Given the description of an element on the screen output the (x, y) to click on. 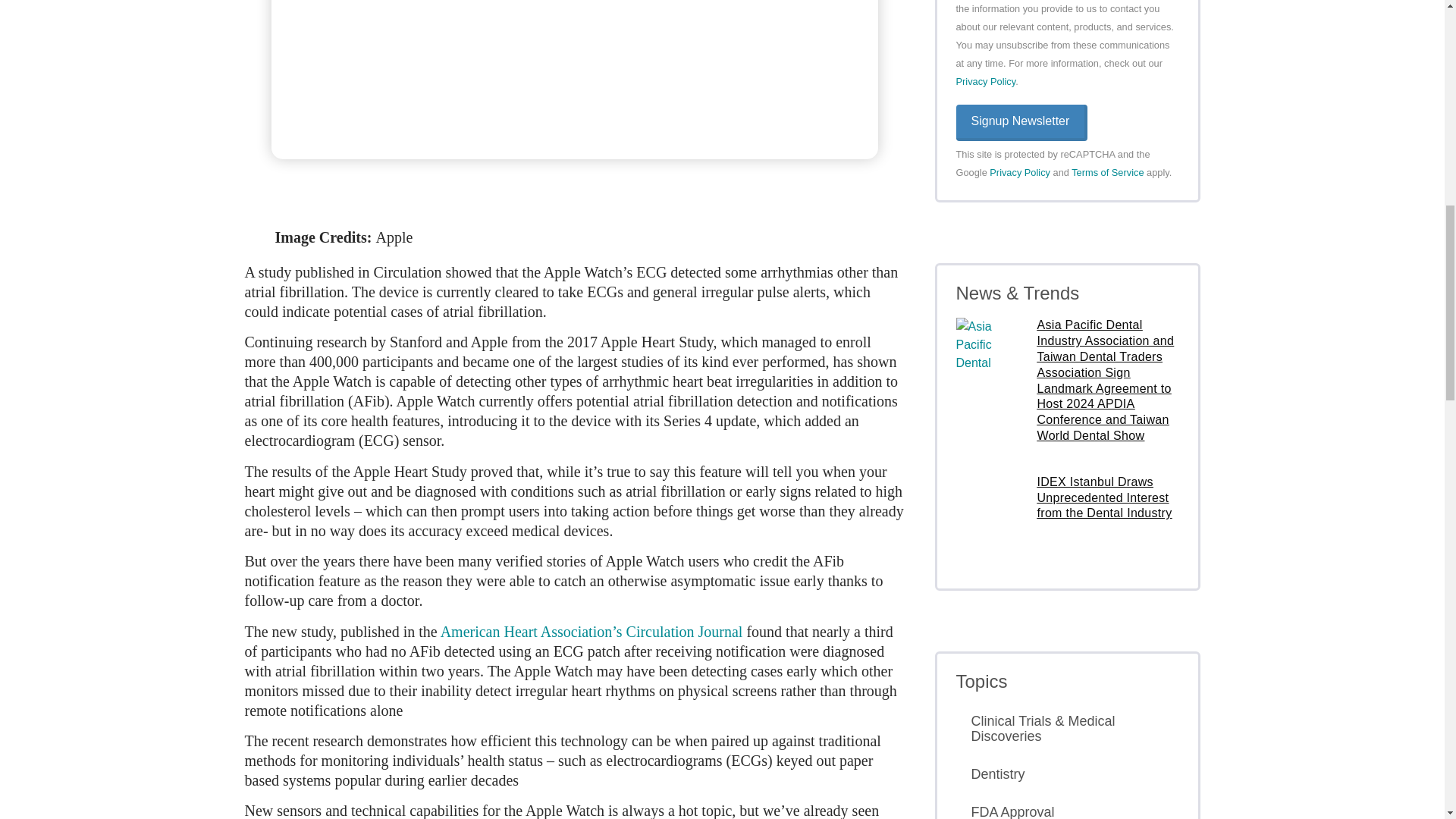
Dentistry (1066, 774)
Terms of Service (1106, 172)
Signup Newsletter (1021, 122)
Privacy Policy (984, 81)
Privacy Policy (1019, 172)
FDA Approval (1066, 807)
